Given the description of an element on the screen output the (x, y) to click on. 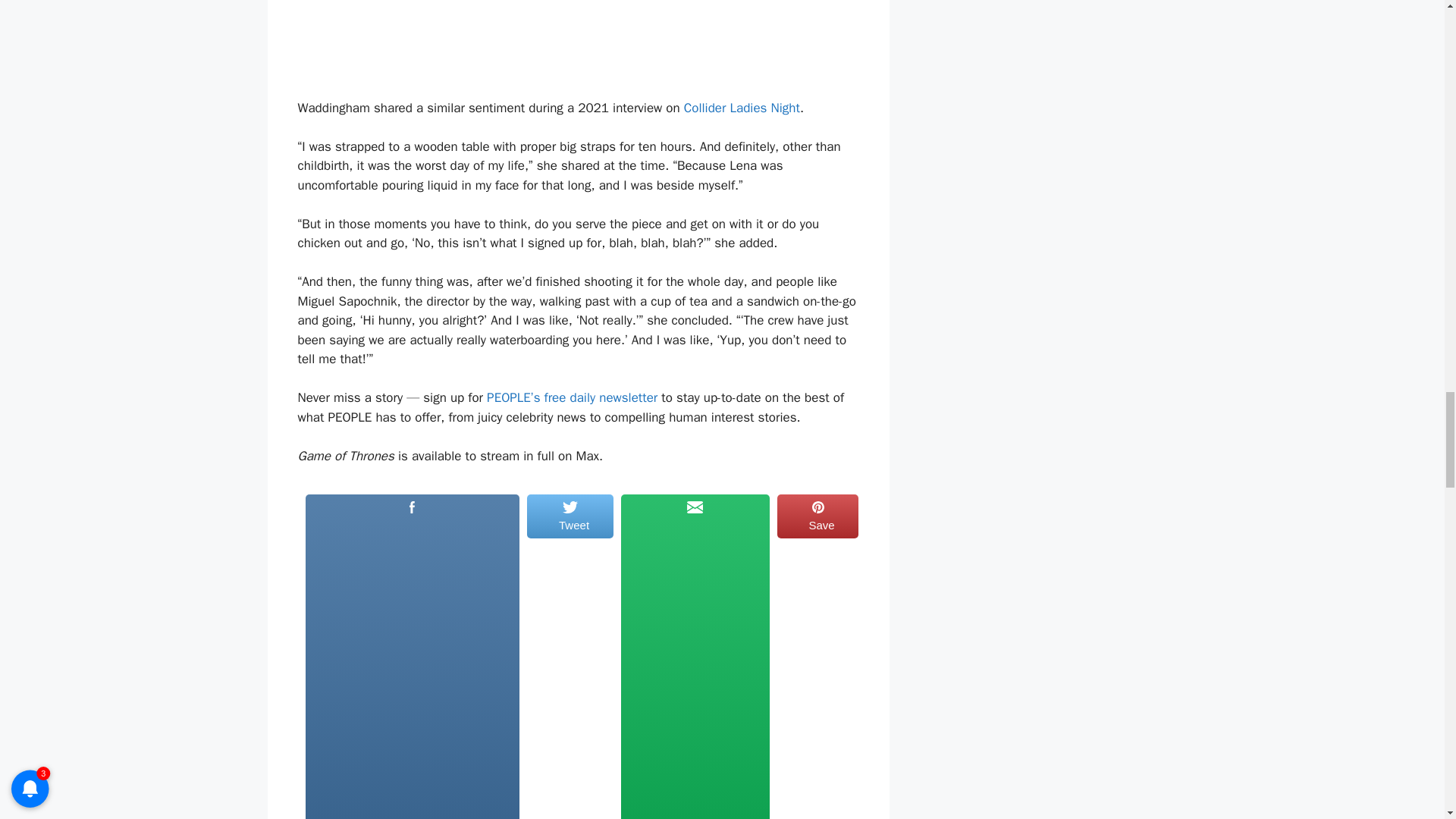
Save (818, 656)
Share on Facebook (411, 656)
Advertisement (412, 668)
Follow us (695, 656)
Tweet (569, 656)
Advertisement (695, 668)
Collider Ladies Night (741, 107)
Advertisement (578, 46)
